Given the description of an element on the screen output the (x, y) to click on. 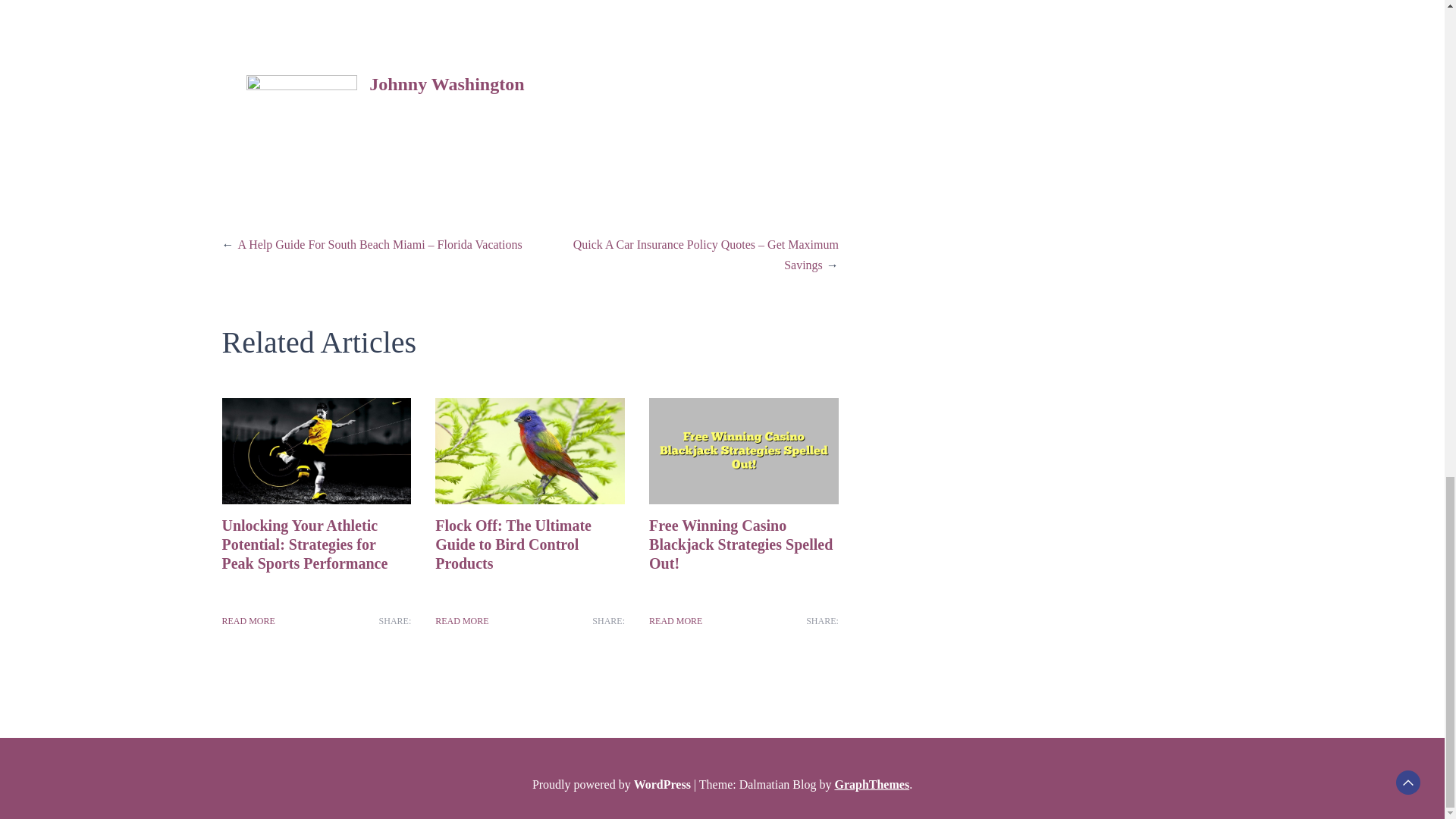
READ MORE (675, 620)
Free Winning Casino Blackjack Strategies Spelled Out! (740, 543)
READ MORE (461, 620)
READ MORE (248, 620)
GraphThemes (871, 784)
Johnny Washington (446, 84)
Proudly powered by WordPress (613, 784)
Flock Off: The Ultimate Guide to Bird Control Products (513, 543)
